Given the description of an element on the screen output the (x, y) to click on. 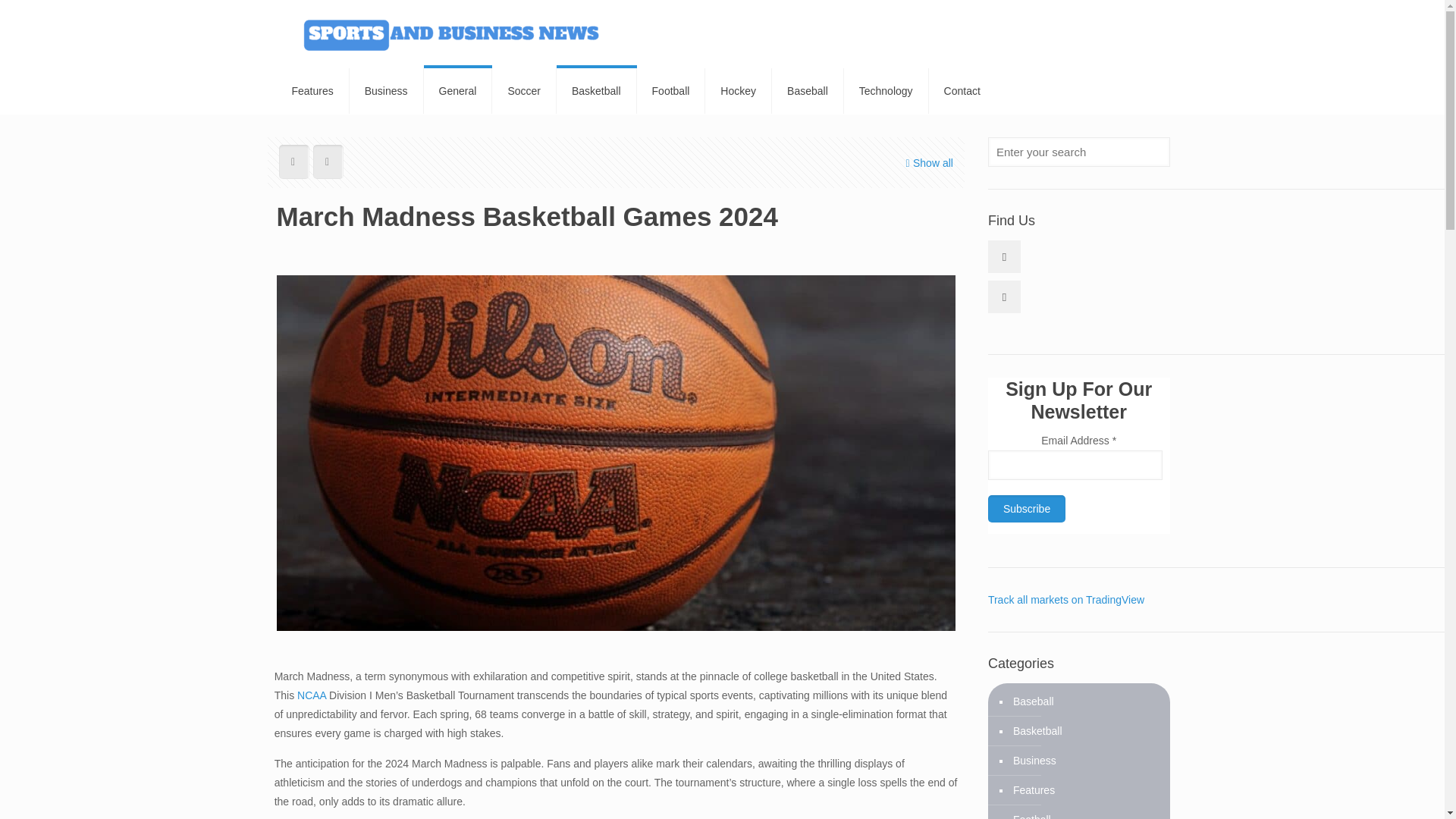
Subscribe (1026, 508)
Basketball (1036, 731)
Show all (927, 162)
Technology (886, 90)
Business (1033, 760)
Contact (961, 90)
Track all markets on TradingView (1066, 599)
Subscribe (1026, 508)
General (458, 90)
NCAA (311, 695)
Features (312, 90)
Basketball (596, 90)
Soccer (524, 90)
Baseball (807, 90)
Football (1030, 812)
